Given the description of an element on the screen output the (x, y) to click on. 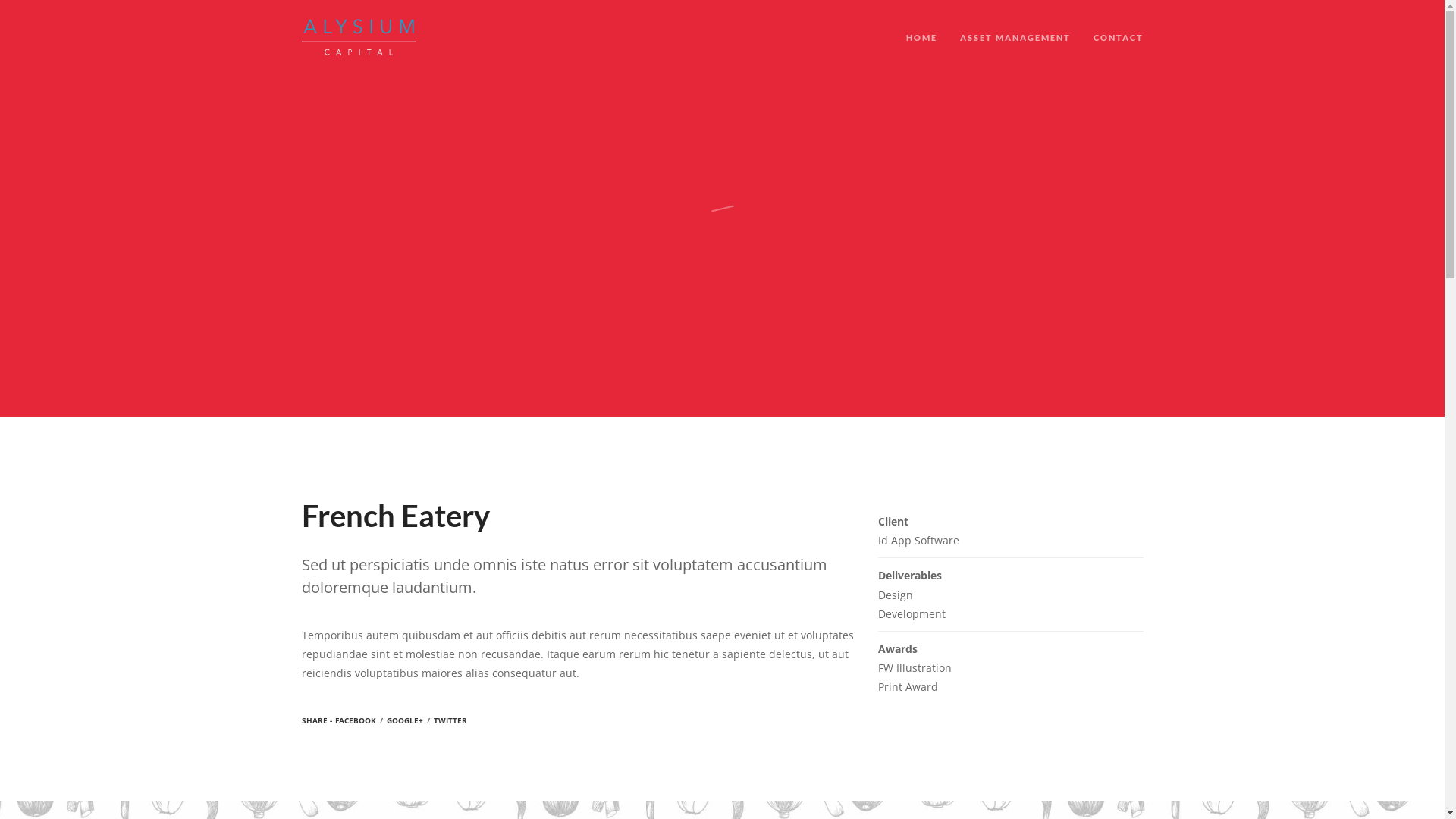
HOME Element type: text (920, 52)
GOOGLE+ Element type: text (404, 720)
TWITTER Element type: text (450, 720)
CONTACT Element type: text (1118, 52)
ASSET MANAGEMENT Element type: text (1015, 52)
FACEBOOK Element type: text (355, 720)
